Given the description of an element on the screen output the (x, y) to click on. 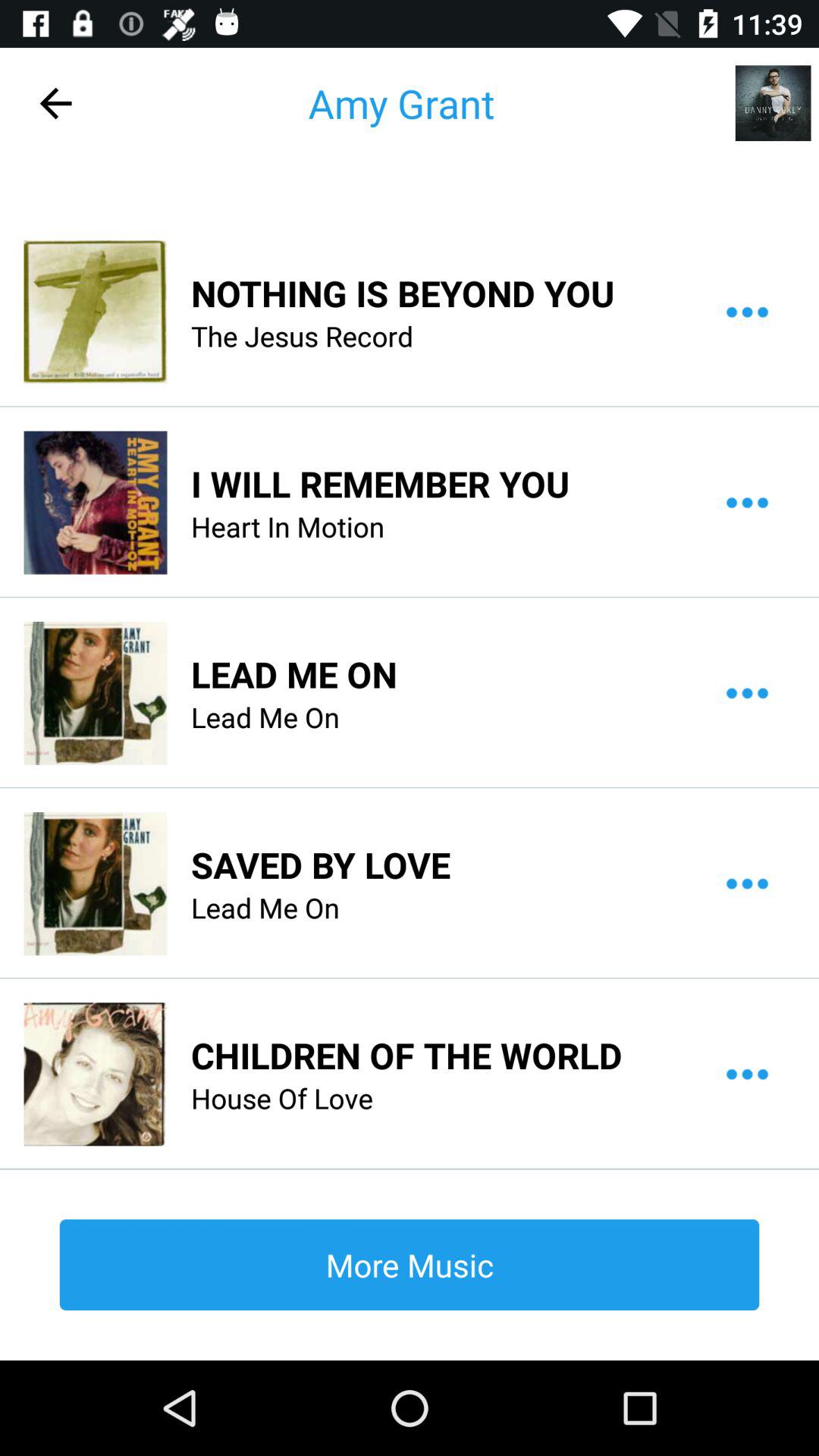
open the children of the item (406, 1055)
